Given the description of an element on the screen output the (x, y) to click on. 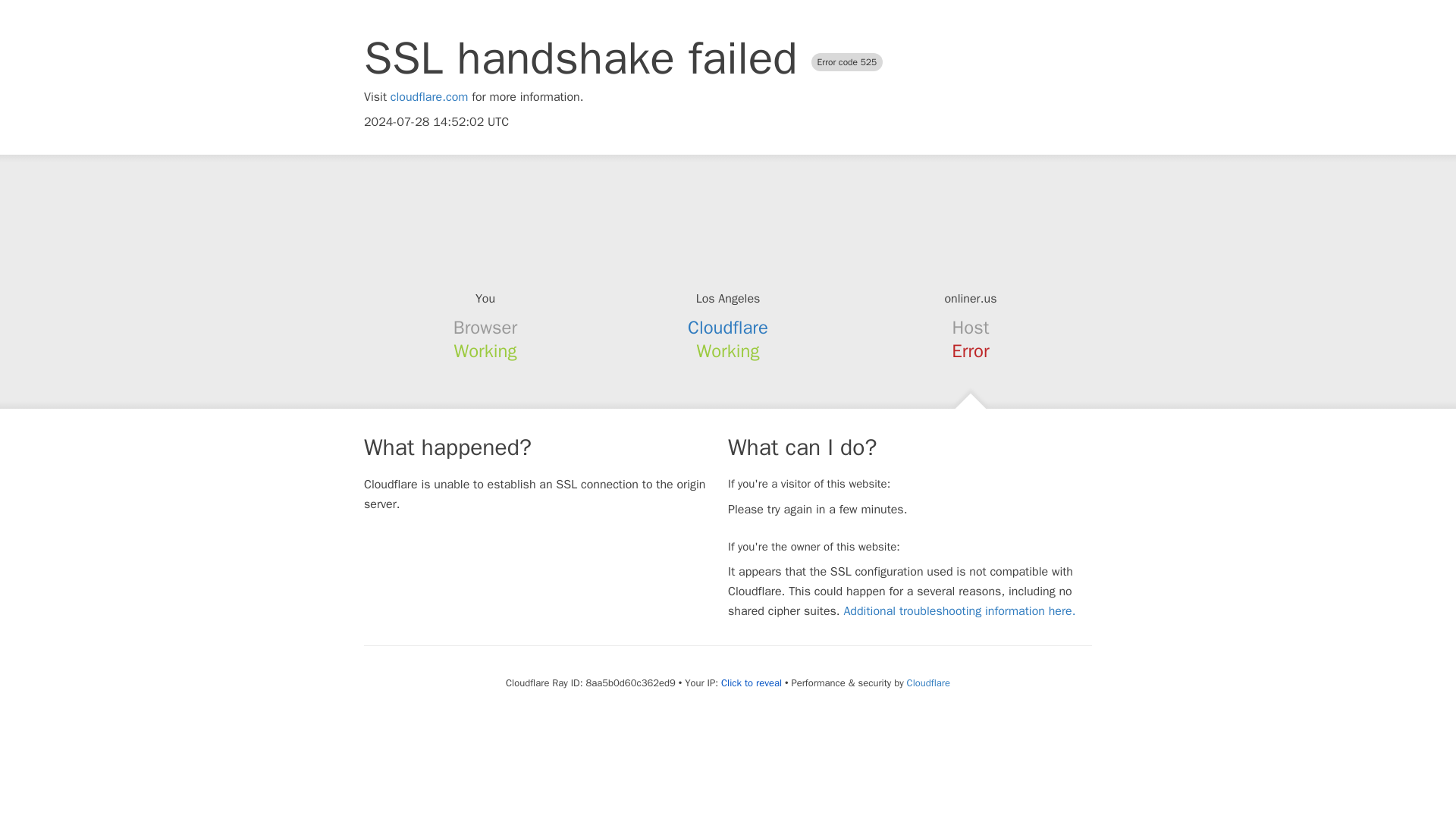
Click to reveal (750, 683)
cloudflare.com (429, 96)
Additional troubleshooting information here. (959, 611)
Cloudflare (727, 327)
Cloudflare (928, 682)
